Given the description of an element on the screen output the (x, y) to click on. 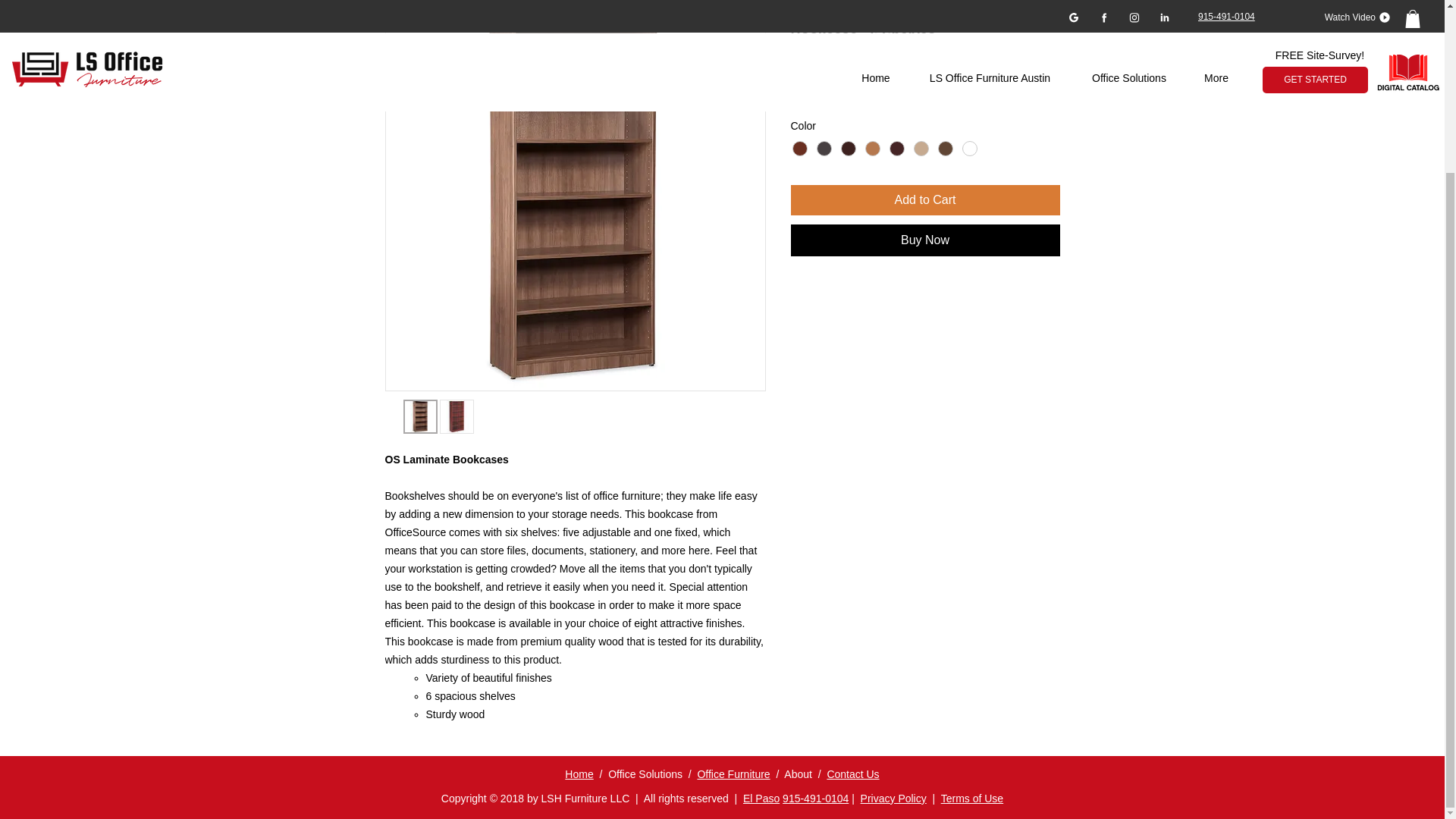
Home (578, 774)
Privacy Policy (893, 798)
Office Furniture (733, 774)
915-491-0104 (815, 798)
Terms of Use (971, 798)
Add to Cart (924, 200)
El Paso (760, 798)
Contact Us (853, 774)
Buy Now (924, 240)
